Given the description of an element on the screen output the (x, y) to click on. 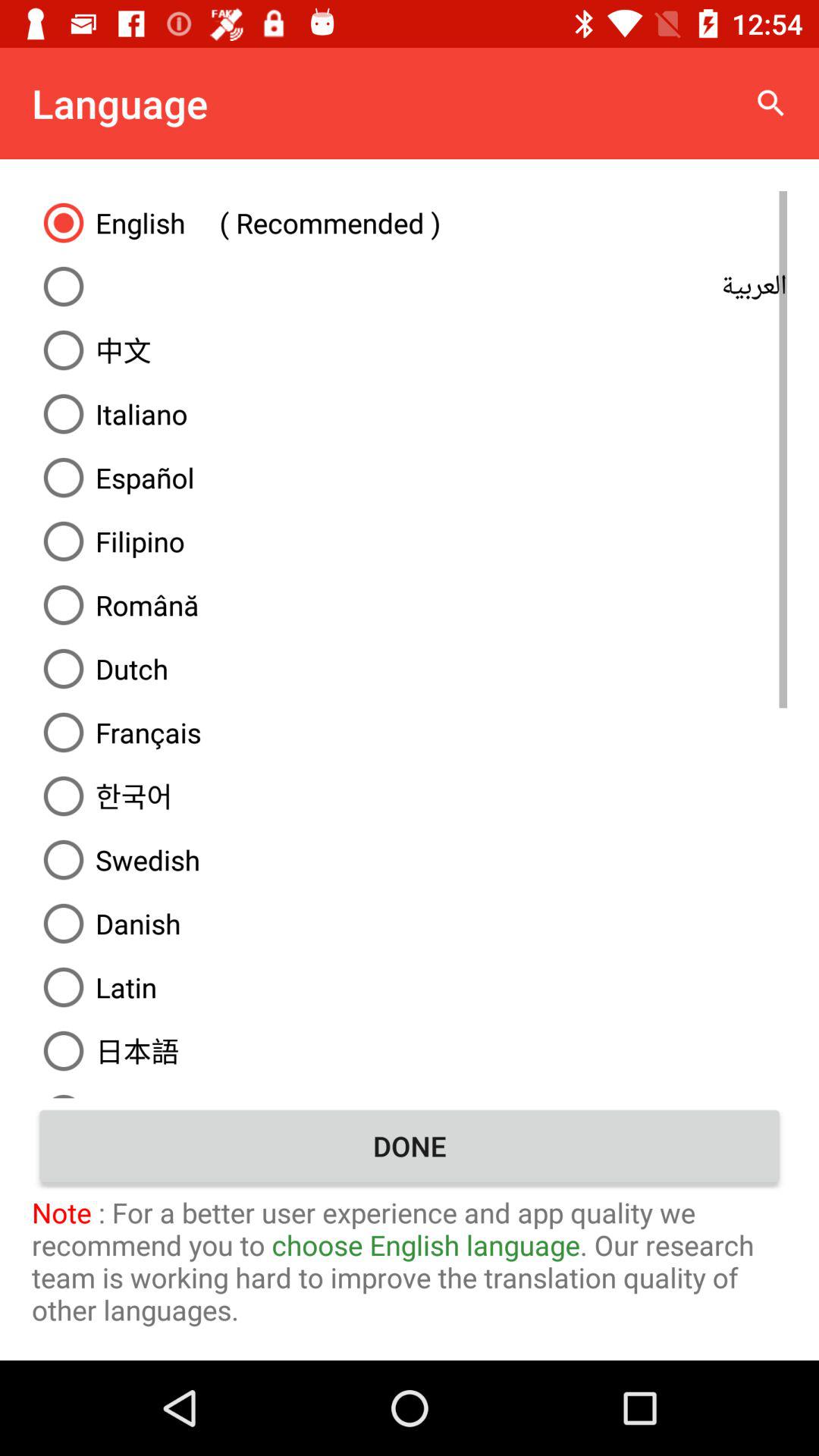
scroll to done item (409, 1145)
